Given the description of an element on the screen output the (x, y) to click on. 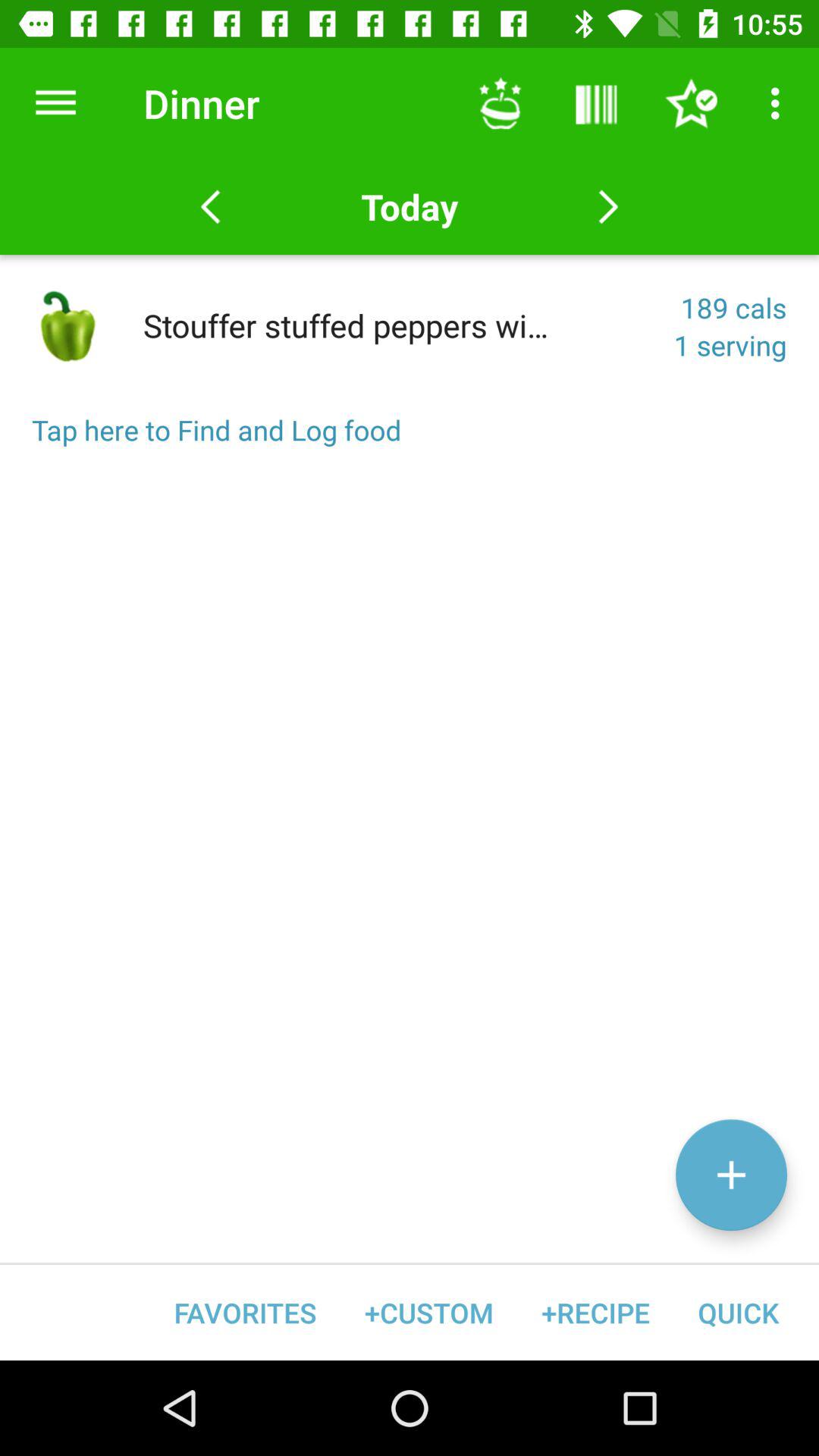
press item next to the +custom icon (245, 1312)
